Given the description of an element on the screen output the (x, y) to click on. 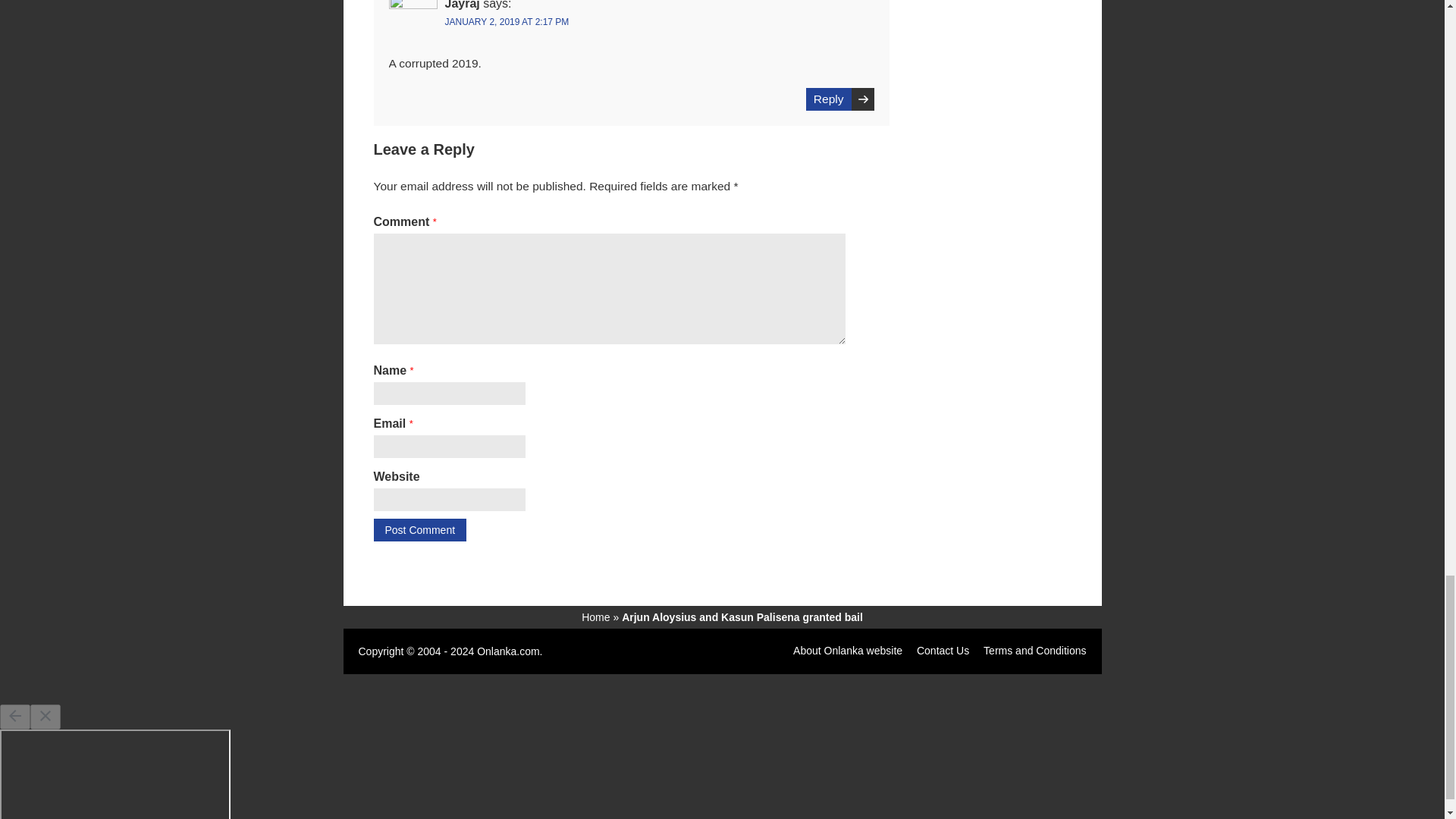
Post Comment (418, 529)
Post Comment (418, 529)
JANUARY 2, 2019 AT 2:17 PM (506, 21)
